Given the description of an element on the screen output the (x, y) to click on. 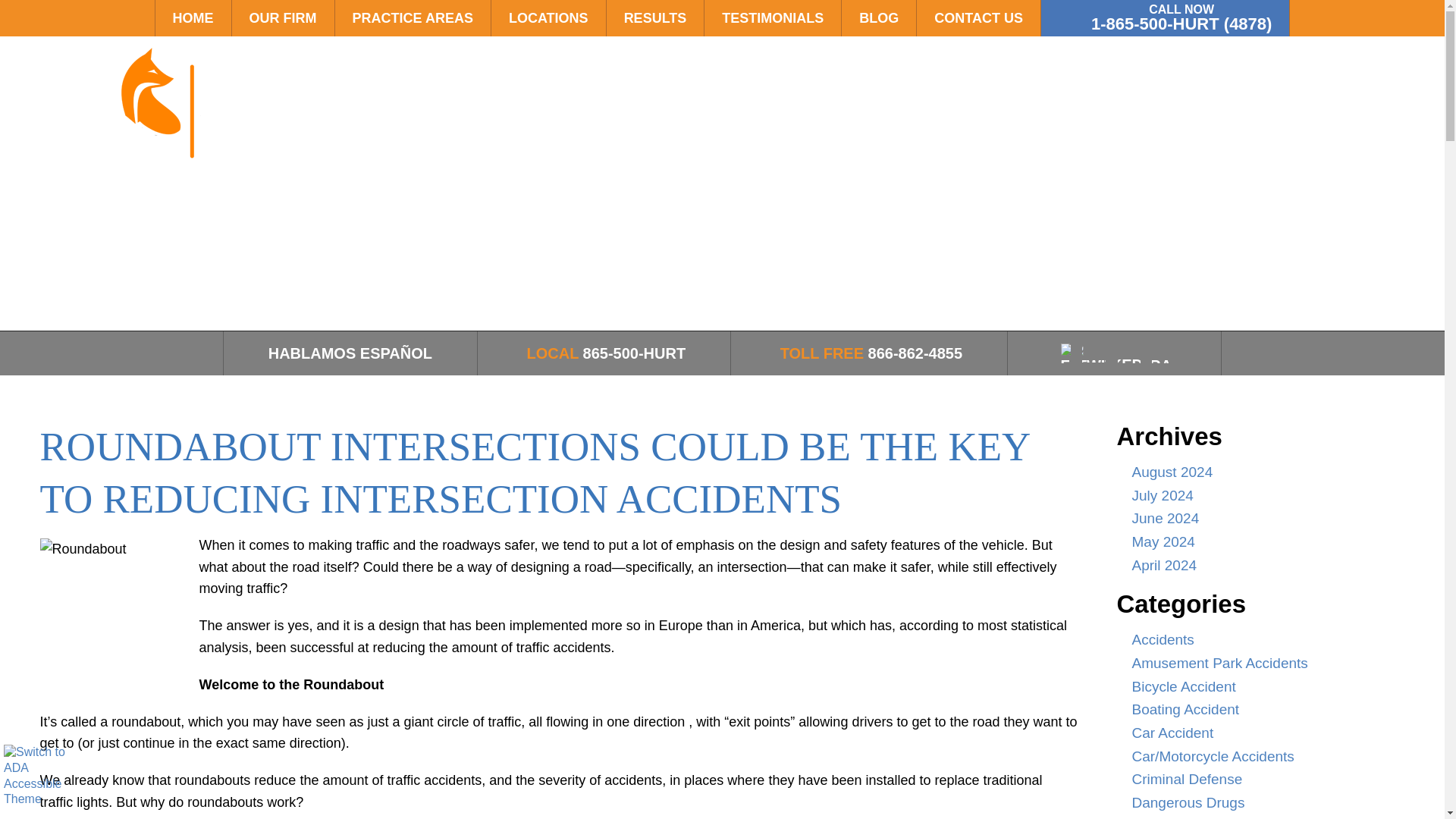
Instagram (1132, 363)
PRACTICE AREAS (413, 18)
Roundabout (114, 614)
Tennessee Personal Injury Lawyer (175, 116)
LinkedIn (1122, 363)
HOME (192, 18)
Facebook (1100, 363)
OUR FIRM (282, 18)
Twitter (1110, 363)
